Given the description of an element on the screen output the (x, y) to click on. 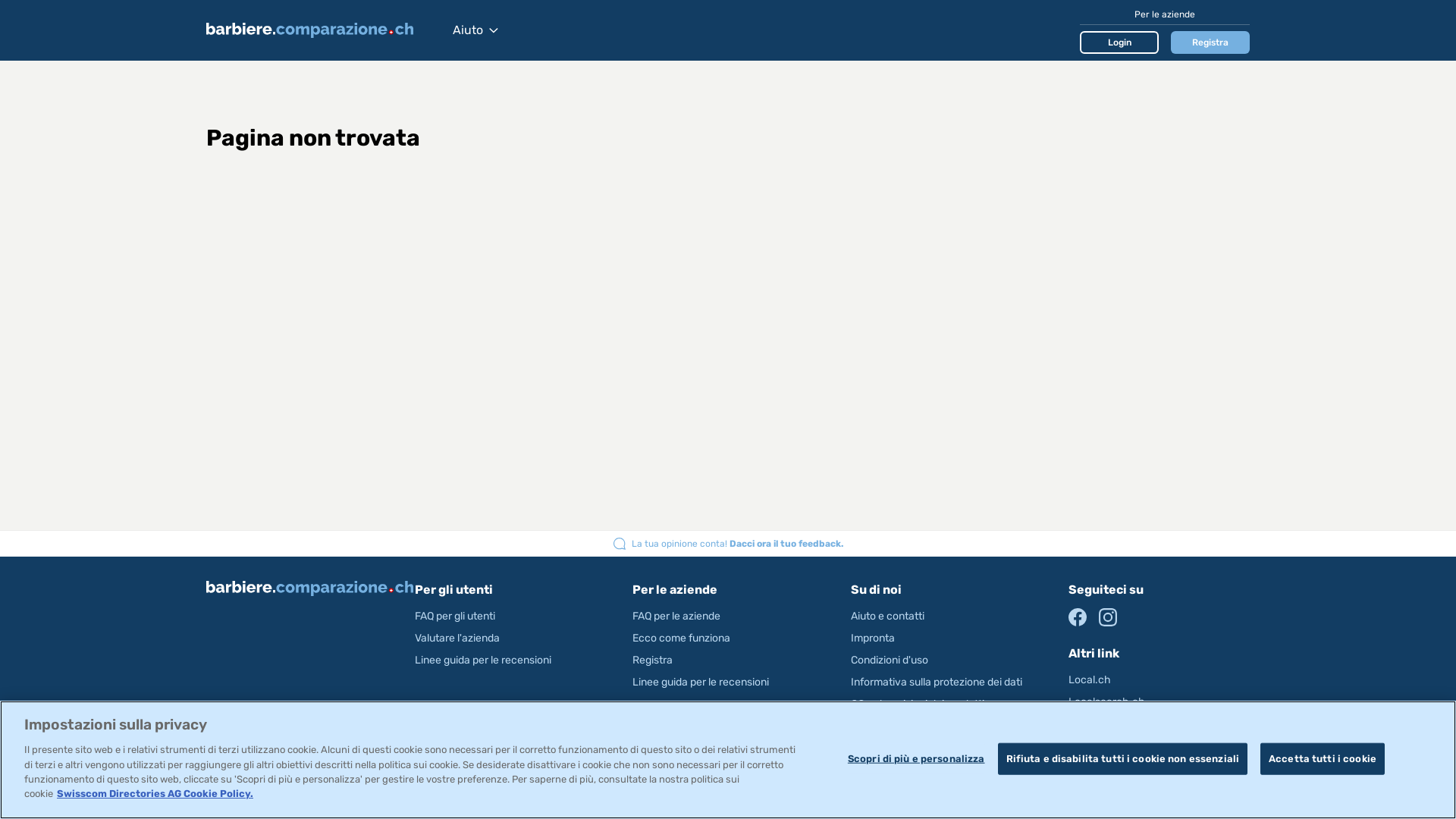
Aiuto Element type: text (475, 30)
Aiuto e contatti Element type: text (887, 615)
Impronta Element type: text (872, 637)
Informazioni sulla piattaforma di comparazione Element type: text (927, 733)
FAQ per le aziende Element type: text (676, 615)
Informativa sulla protezione dei dati Element type: text (936, 681)
La tua opinione conta! Dacci ora il tuo feedback. Element type: text (736, 543)
Rifiuta e disabilita tutti i cookie non essenziali Element type: text (1122, 759)
Localsearch.ch Element type: text (1106, 701)
Valutare l'azienda Element type: text (456, 637)
Facebook Element type: text (1077, 617)
CG e descrizioni dei prodotti Element type: text (917, 703)
Swisscom Directories AG Cookie Policy. Element type: text (154, 793)
Linee guida per le recensioni Element type: text (700, 681)
Condizioni d'uso Element type: text (889, 659)
Instagram Element type: text (1107, 617)
Login Element type: text (1118, 41)
Vai alla home page Element type: hover (321, 29)
Ecco come funziona Element type: text (681, 637)
Registra Element type: text (652, 659)
Linee guida per le recensioni Element type: text (482, 659)
Registra Element type: text (1209, 41)
FAQ per gli utenti Element type: text (454, 615)
Local.ch Element type: text (1089, 679)
Accetta tutti i cookie Element type: text (1322, 759)
